Given the description of an element on the screen output the (x, y) to click on. 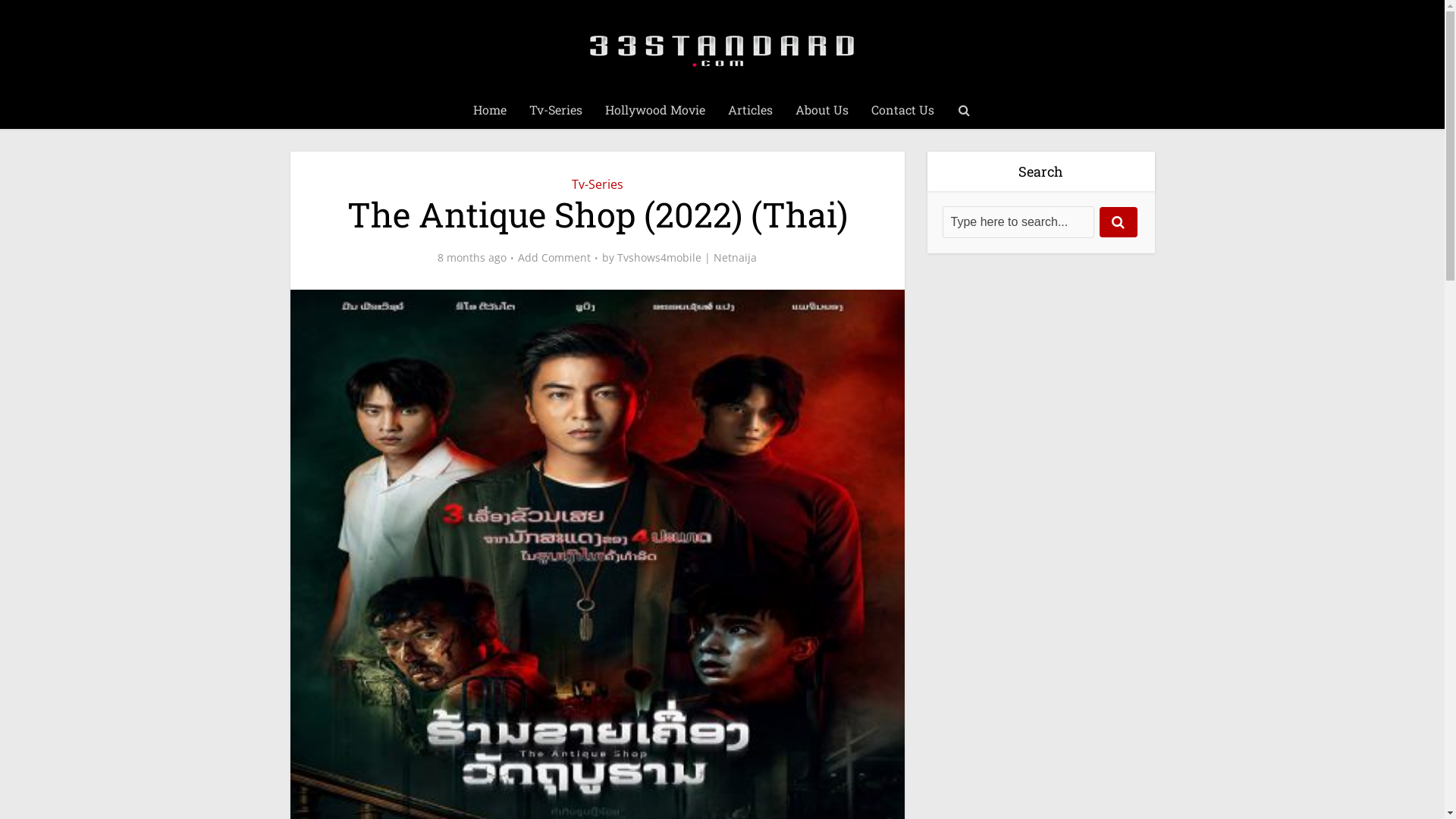
Tv-Series Element type: text (555, 109)
Hollywood Movie Element type: text (654, 109)
Home Element type: text (489, 109)
Articles Element type: text (749, 109)
Add Comment Element type: text (553, 257)
Tv-Series Element type: text (597, 183)
Tvshows4mobile | Netnaija Element type: text (686, 257)
Contact Us Element type: text (902, 109)
About Us Element type: text (821, 109)
